Given the description of an element on the screen output the (x, y) to click on. 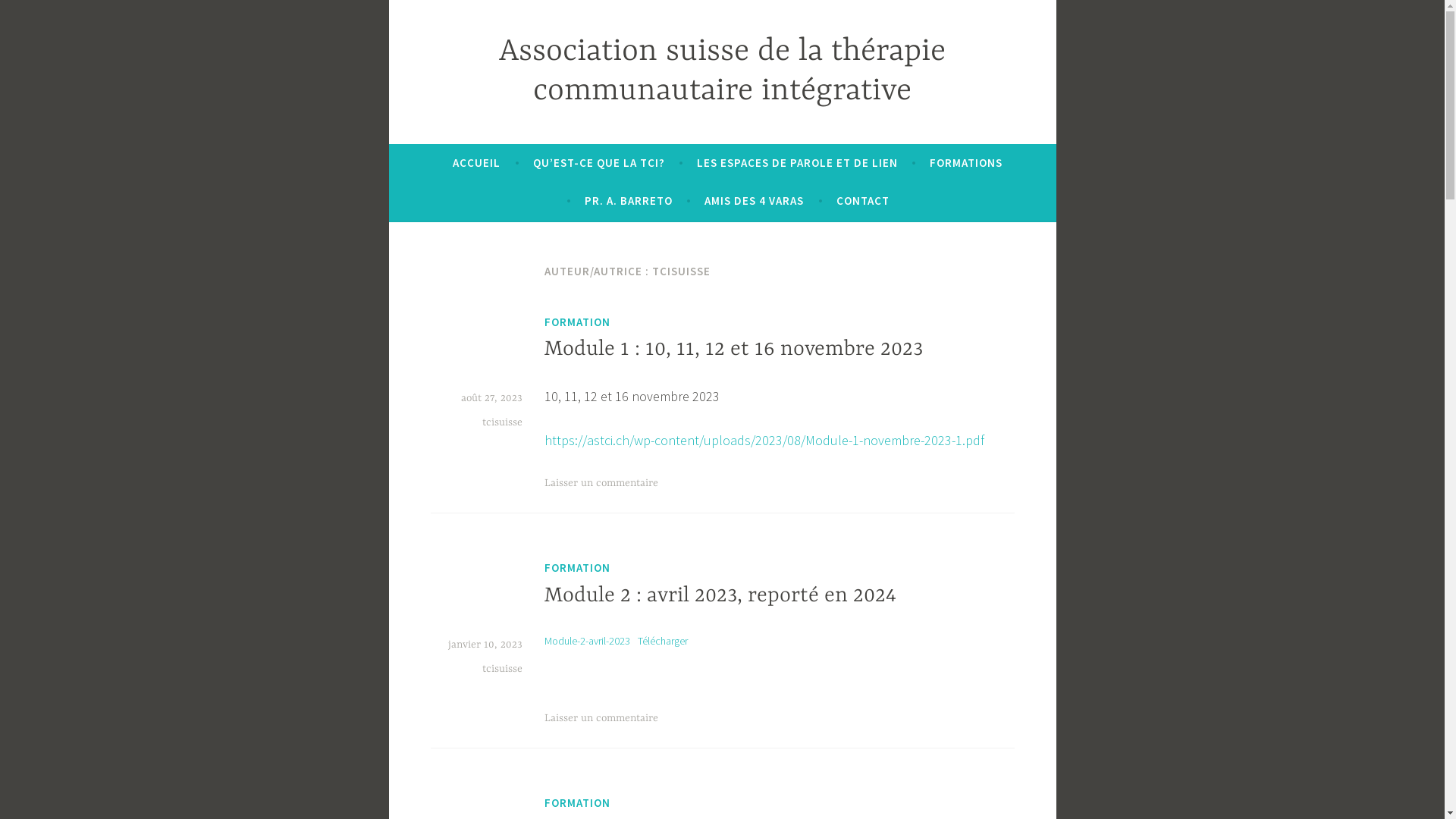
Module-2-avril-2023 Element type: text (587, 640)
PR. A. BARRETO Element type: text (628, 200)
Laisser un commentaire Element type: text (601, 482)
LES ESPACES DE PAROLE ET DE LIEN Element type: text (796, 162)
Module 1 : 10, 11, 12 et 16 novembre 2023 Element type: text (733, 349)
FORMATION Element type: text (577, 567)
AMIS DES 4 VARAS Element type: text (753, 200)
tcisuisse Element type: text (502, 422)
CONTACT Element type: text (862, 200)
FORMATION Element type: text (577, 802)
janvier 10, 2023 Element type: text (484, 644)
ACCUEIL Element type: text (476, 162)
FORMATIONS Element type: text (965, 162)
FORMATION Element type: text (577, 322)
Laisser un commentaire Element type: text (601, 718)
tcisuisse Element type: text (502, 668)
